Given the description of an element on the screen output the (x, y) to click on. 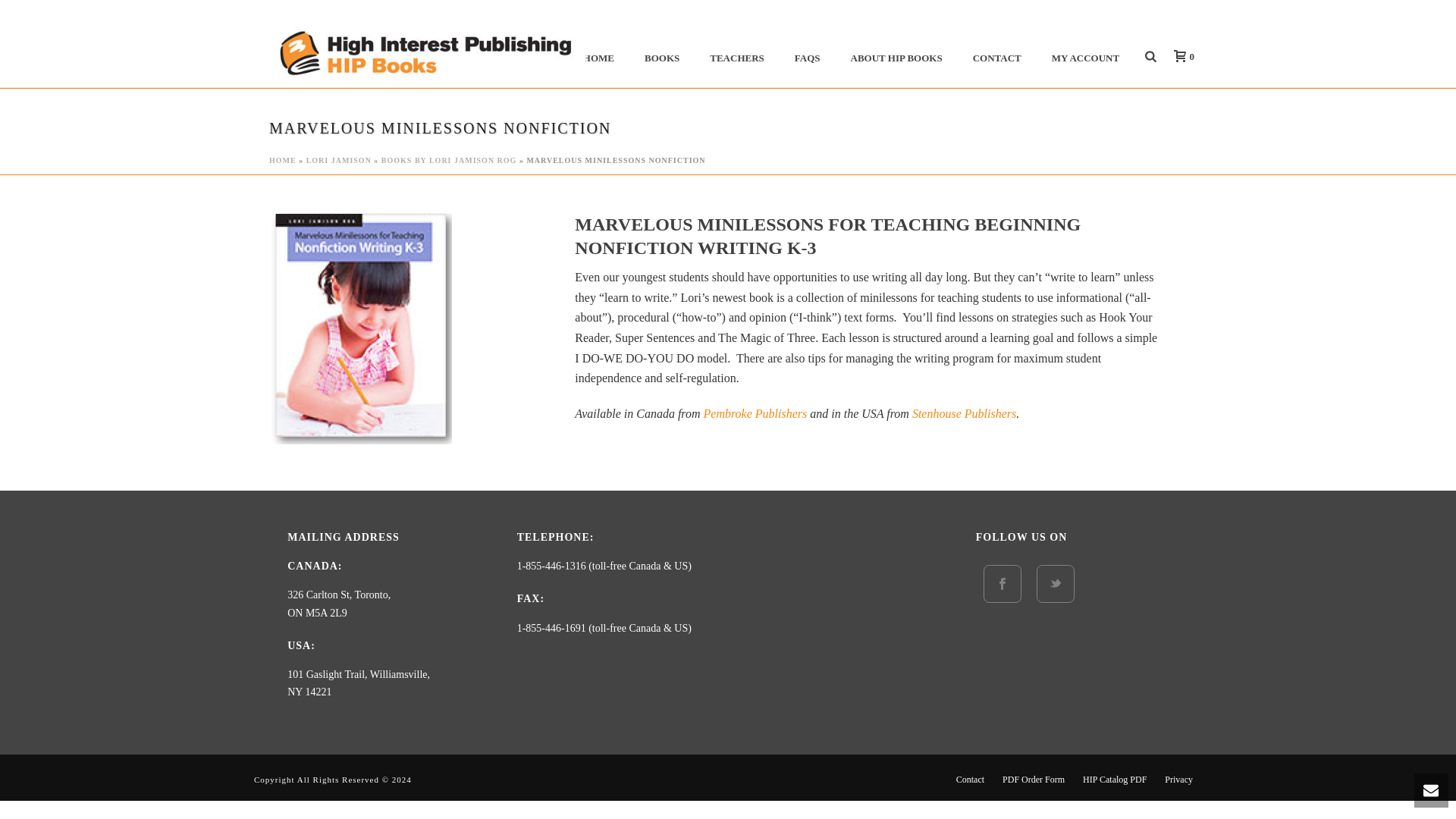
MY ACCOUNT (1085, 56)
CONTACT (997, 56)
Follow Us on twitter (1055, 583)
ABOUT HIP BOOKS (896, 56)
Follow Us on facebook (1003, 583)
FAQS (806, 56)
TEACHERS (736, 56)
BOOKS (661, 56)
ABOUT HIP BOOKS (896, 56)
TEACHERS (736, 56)
CONTACT (997, 56)
BOOKS (661, 56)
FAQS (806, 56)
HOME (597, 56)
HOME (597, 56)
